Given the description of an element on the screen output the (x, y) to click on. 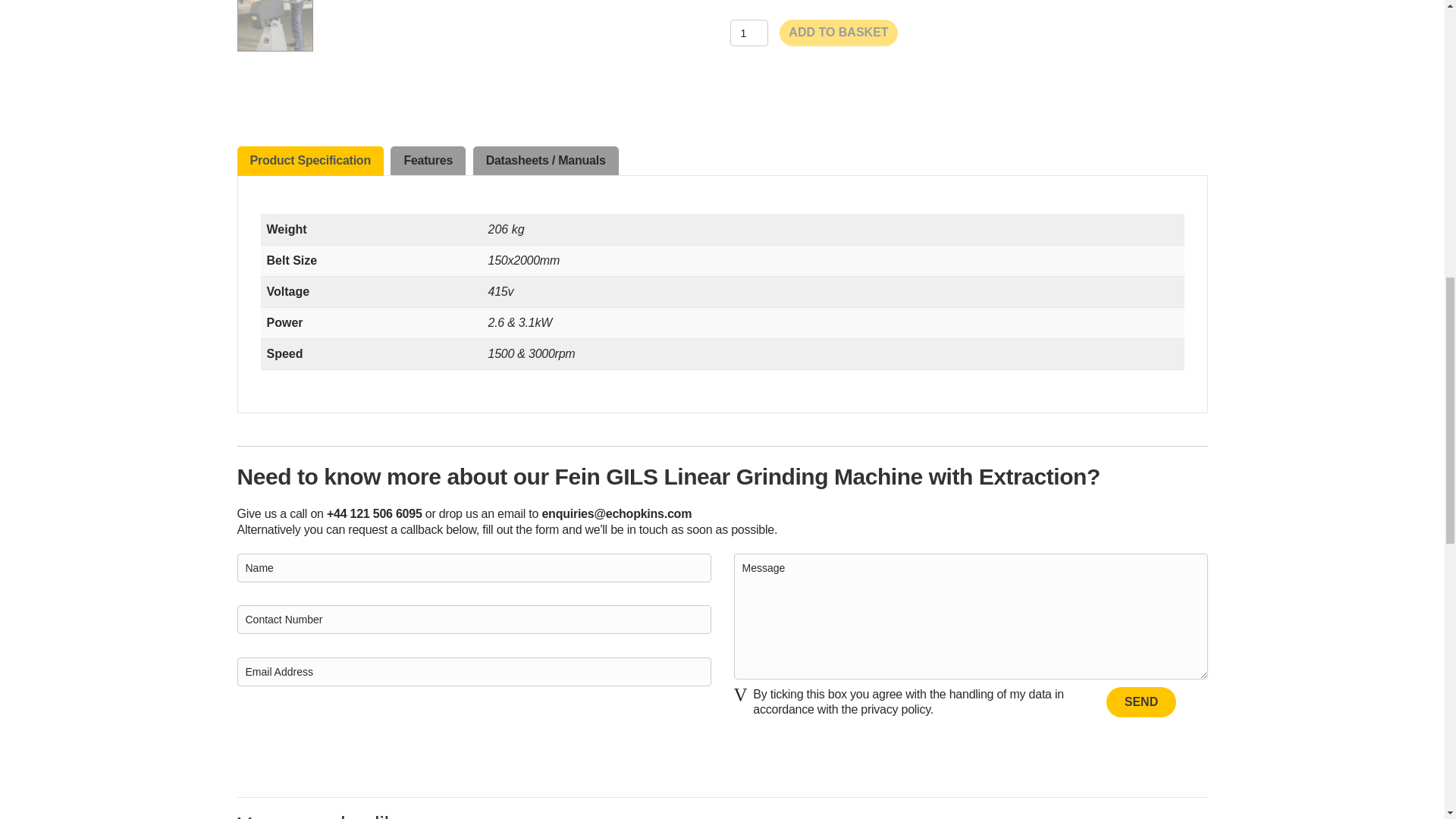
send (1141, 702)
1 (748, 32)
